Given the description of an element on the screen output the (x, y) to click on. 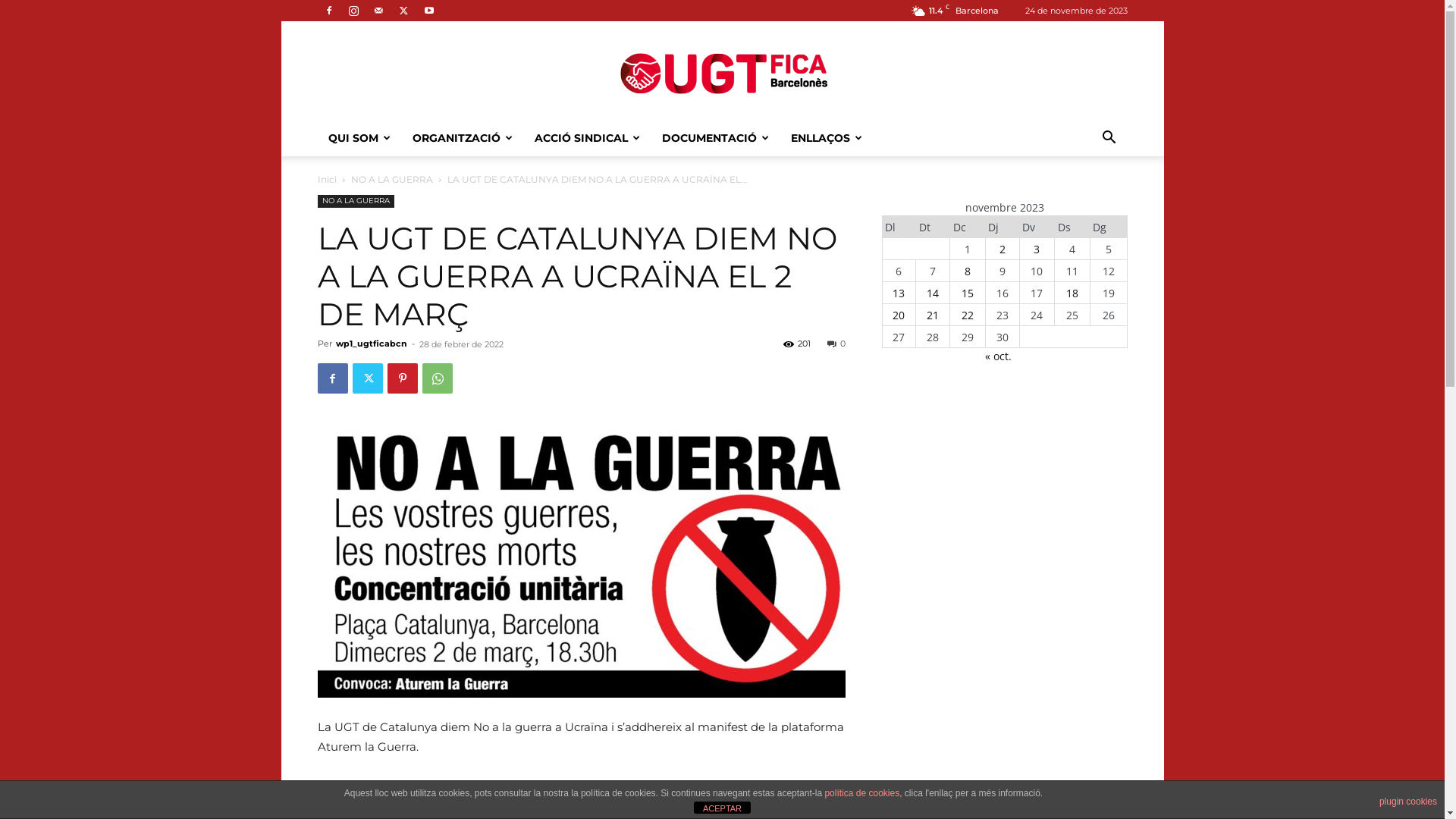
ucraina-02-03-2022_twitter Element type: hover (580, 559)
8 Element type: text (967, 270)
13 Element type: text (898, 292)
NO A LA GUERRA Element type: text (354, 200)
20 Element type: text (898, 314)
QUI SOM Element type: text (358, 137)
Twitter Element type: hover (403, 10)
Recerca Element type: text (1080, 198)
Facebook Element type: hover (327, 10)
NO A LA GUERRA Element type: text (391, 179)
WhatsApp Element type: hover (436, 378)
3 Element type: text (1036, 248)
ACEPTAR Element type: text (721, 807)
Mail Element type: hover (378, 10)
wp1_ugtficabcn Element type: text (370, 343)
Youtube Element type: hover (428, 10)
Inici Element type: text (325, 179)
14 Element type: text (932, 292)
Twitter Element type: hover (366, 378)
15 Element type: text (967, 292)
Instagram Element type: hover (353, 10)
18 Element type: text (1072, 292)
Facebook Element type: hover (331, 378)
21 Element type: text (932, 314)
0 Element type: text (835, 343)
2 Element type: text (1002, 248)
plugin cookies Element type: text (1408, 801)
22 Element type: text (967, 314)
Pinterest Element type: hover (401, 378)
